Given the description of an element on the screen output the (x, y) to click on. 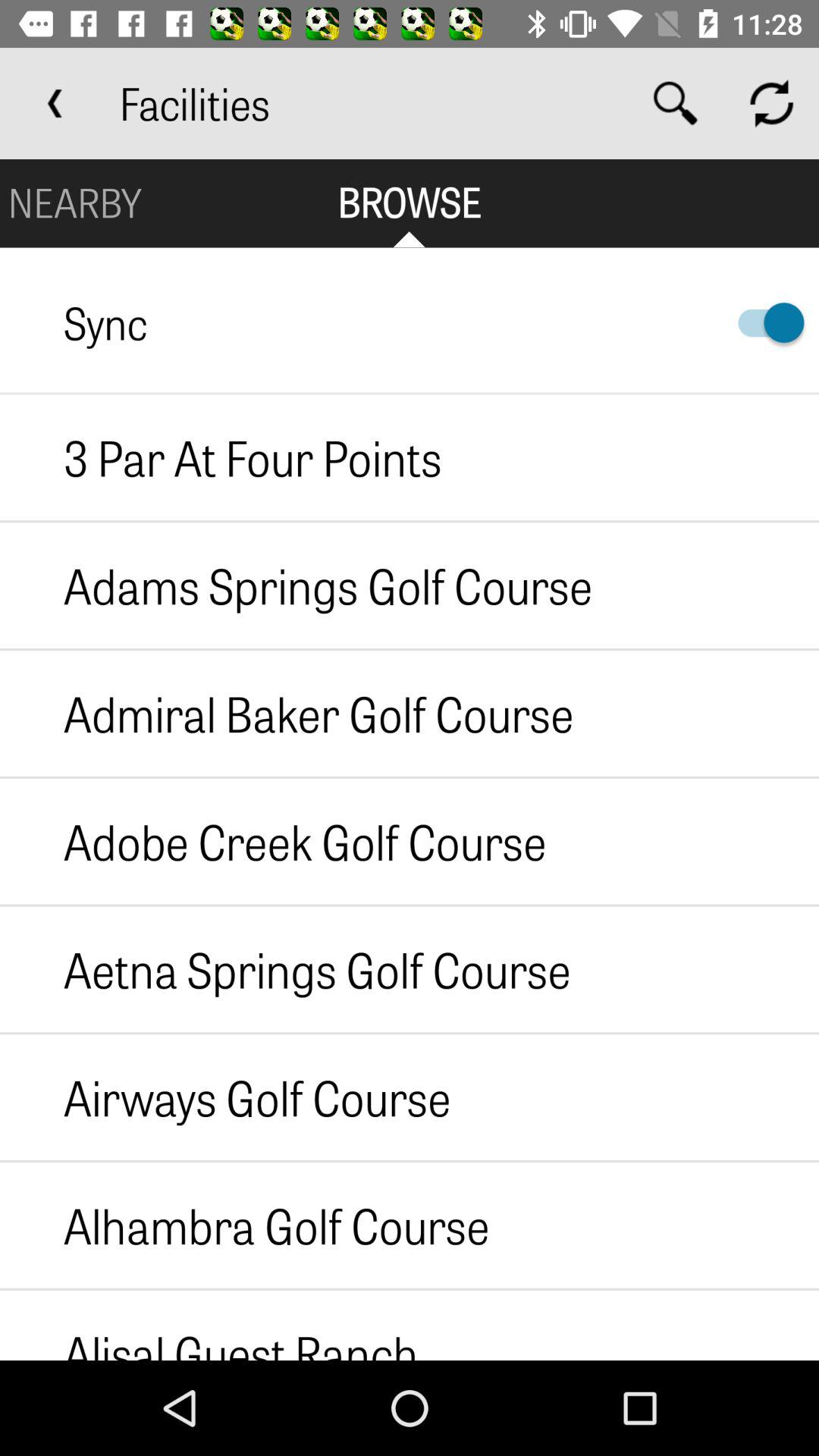
press item above the alisal guest ranch icon (244, 1225)
